Given the description of an element on the screen output the (x, y) to click on. 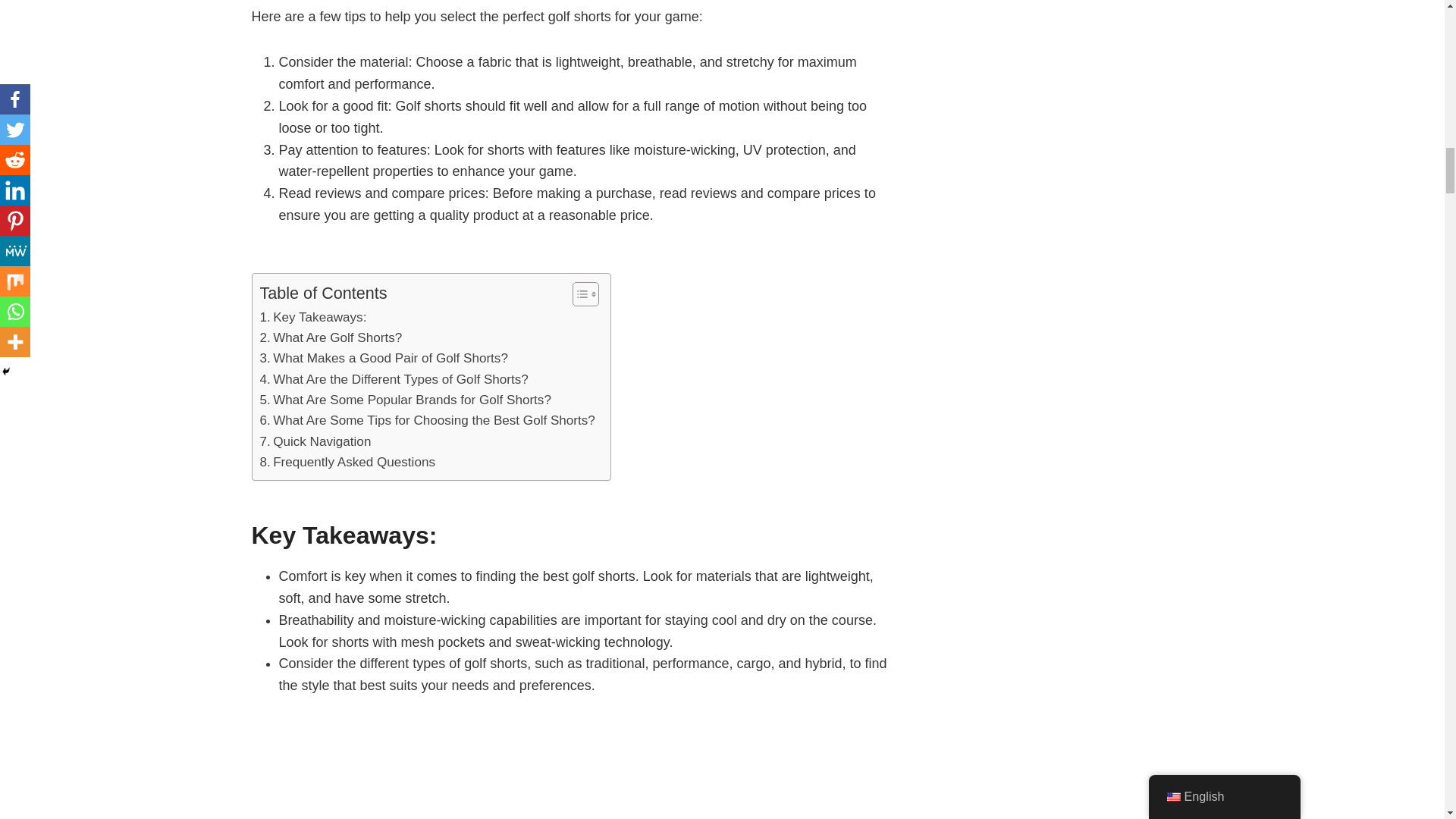
What Makes a Good Pair of Golf Shorts? (382, 358)
What Are Some Popular Brands for Golf Shorts? (404, 399)
What Are Golf Shorts? (330, 337)
Key Takeaways: (312, 317)
Quick Navigation (315, 441)
What Are the Different Types of Golf Shorts? (393, 379)
What Are Some Tips for Choosing the Best Golf Shorts? (426, 420)
